Given the description of an element on the screen output the (x, y) to click on. 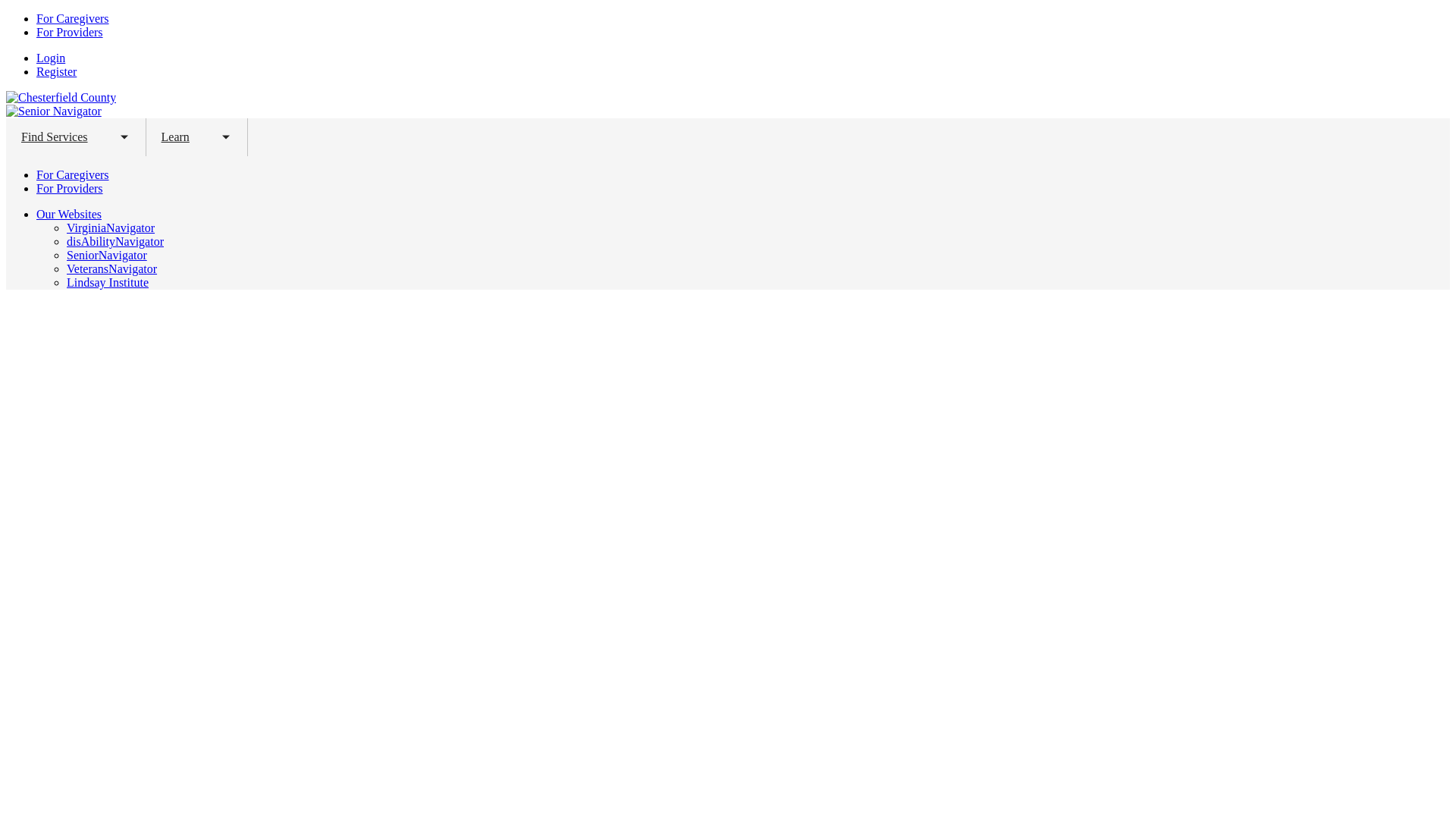
Our Websites (68, 214)
Find Services (54, 136)
icon--register (56, 71)
Register (56, 71)
SeniorNavigator (106, 254)
For Providers (69, 187)
For Caregivers (72, 174)
Toggle submenu (226, 136)
Toggle submenu (124, 136)
VirginiaNavigator (110, 227)
